Given the description of an element on the screen output the (x, y) to click on. 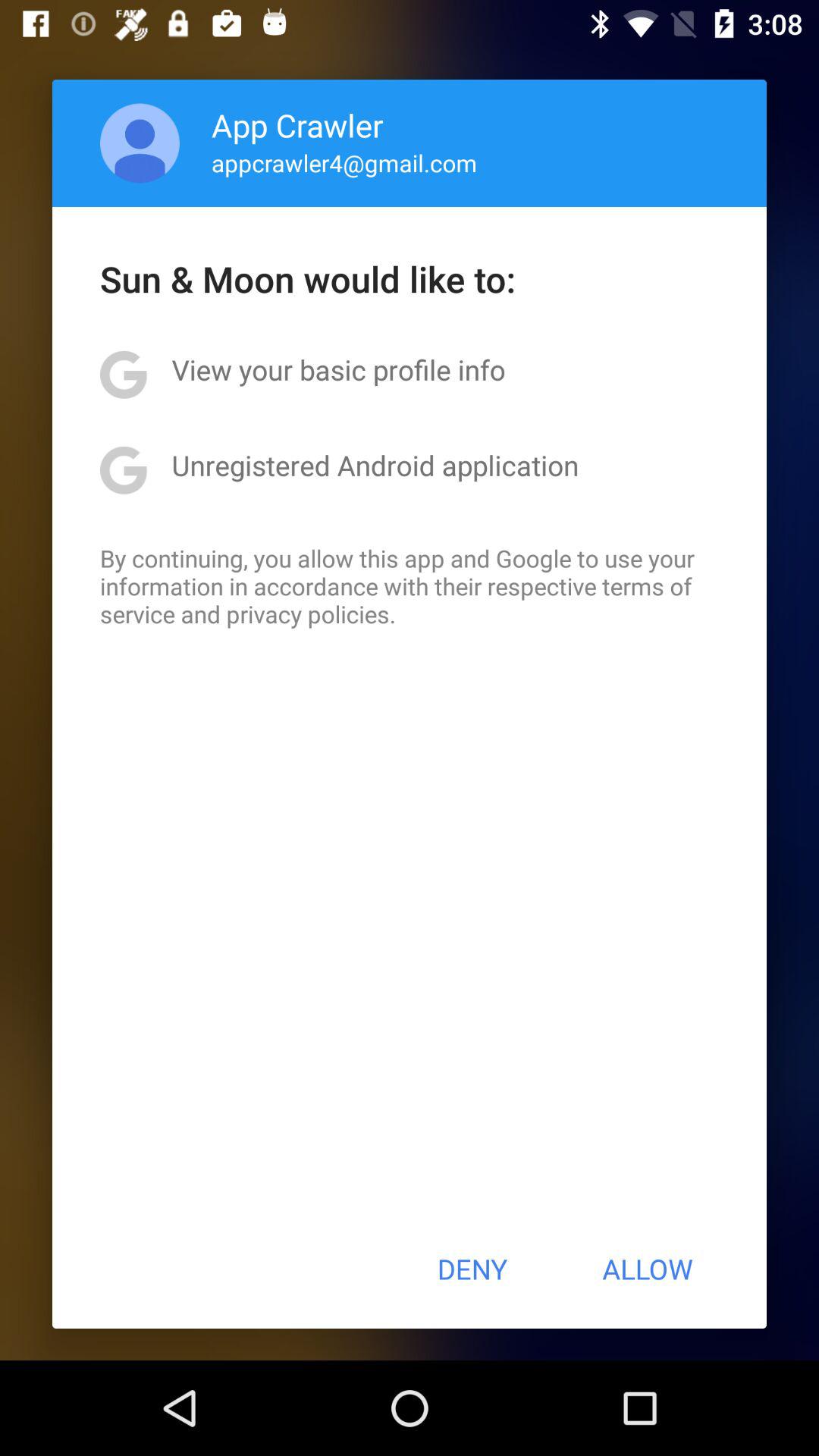
scroll until the appcrawler4@gmail.com app (344, 162)
